Given the description of an element on the screen output the (x, y) to click on. 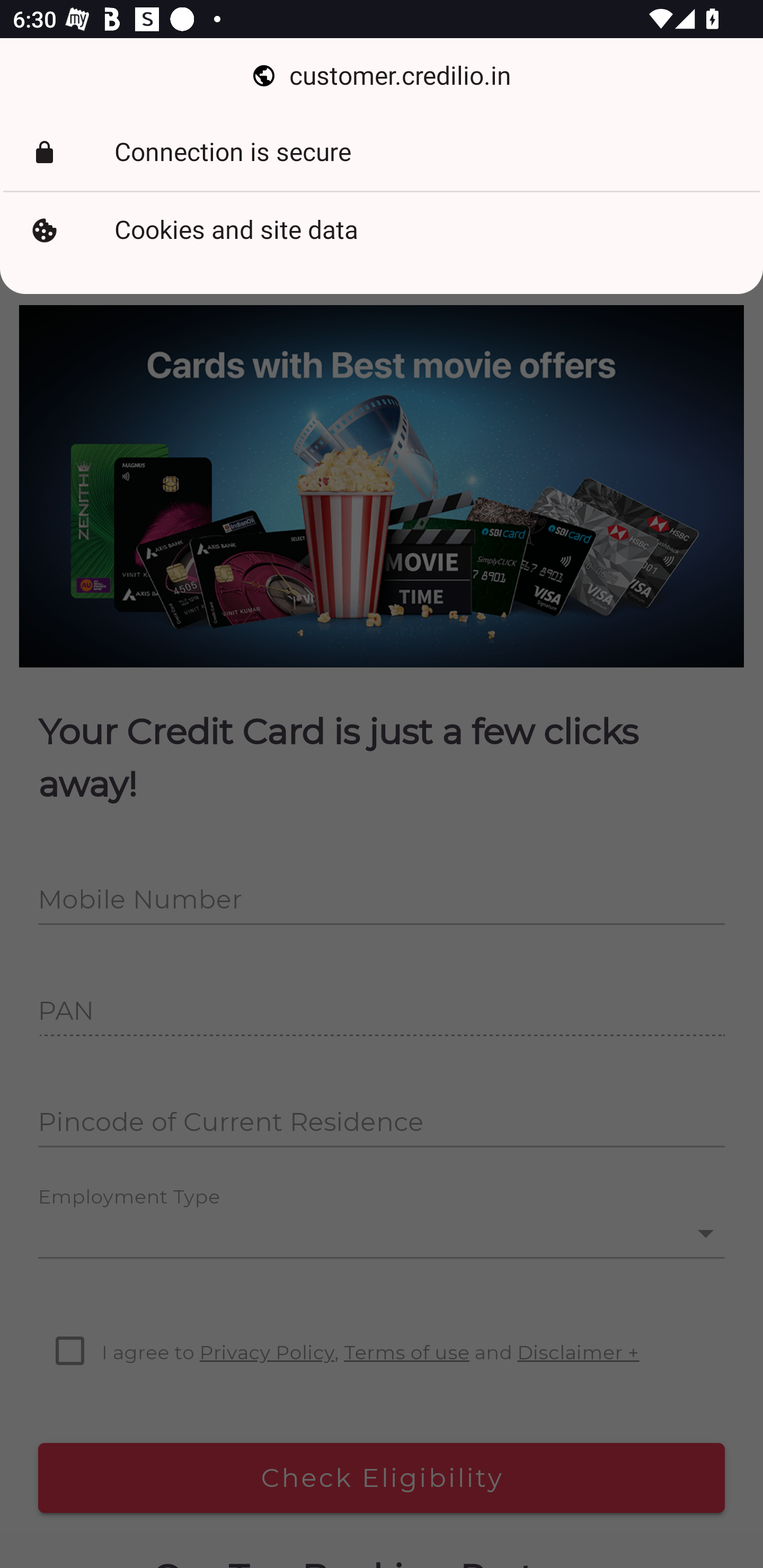
customer.credilio.in (381, 75)
Connection is secure (381, 152)
Cookies and site data (381, 230)
